Given the description of an element on the screen output the (x, y) to click on. 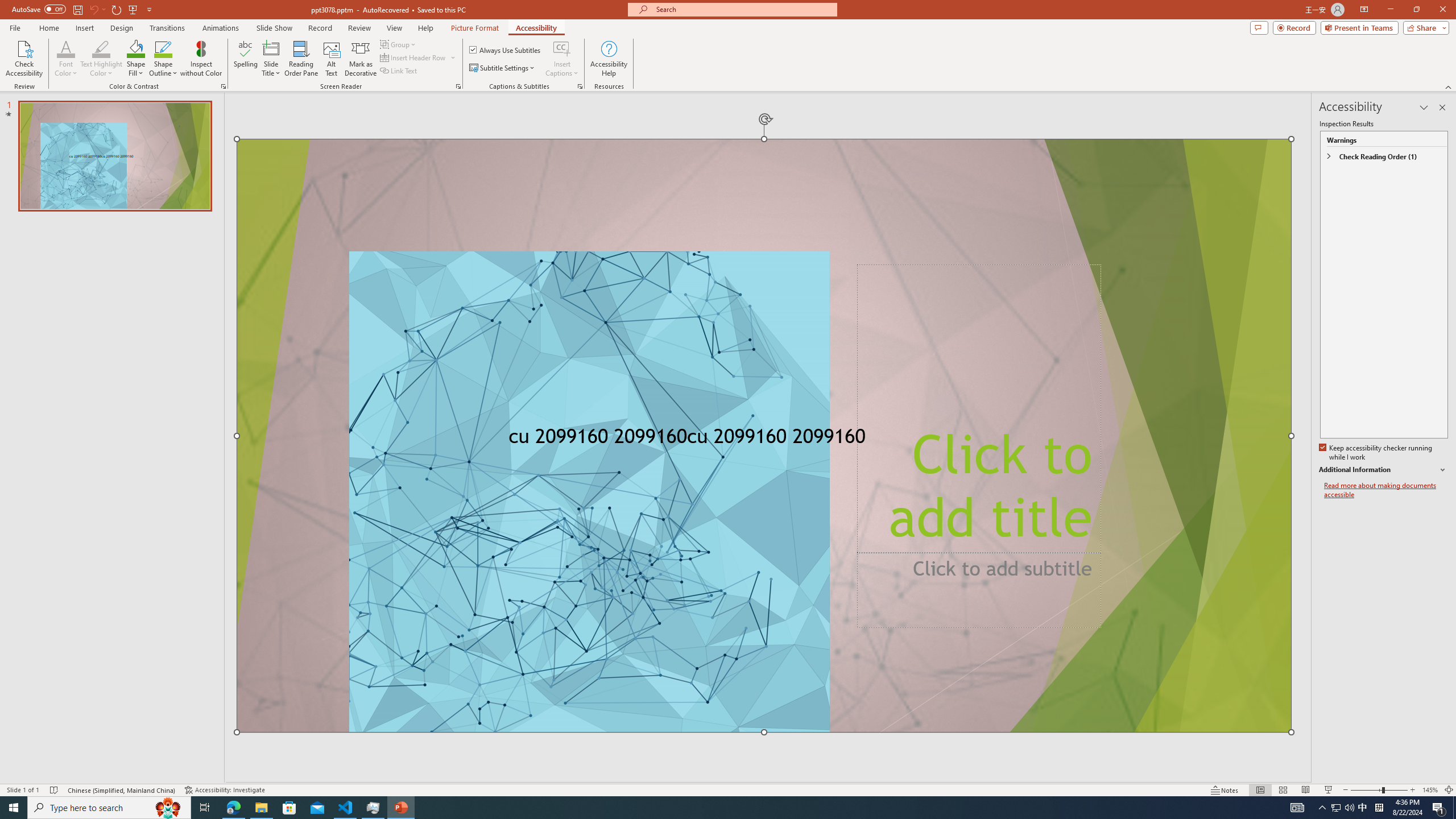
Inspect without Color (201, 58)
Screen Reader (458, 85)
Reading Order Pane (301, 58)
